Given the description of an element on the screen output the (x, y) to click on. 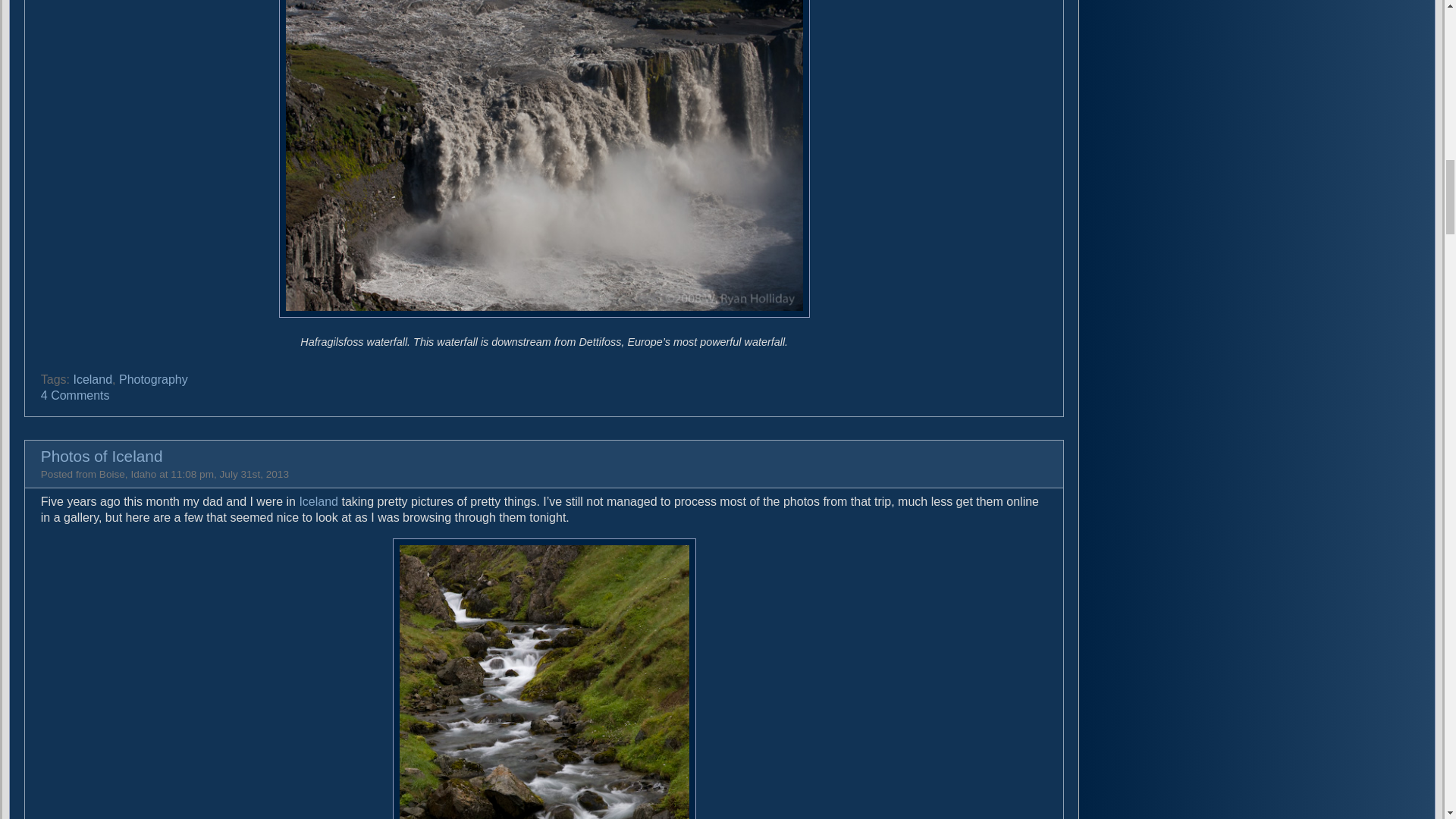
Photos of Iceland (101, 456)
Iceland (317, 501)
Iceland (92, 379)
Photography (153, 379)
